Given the description of an element on the screen output the (x, y) to click on. 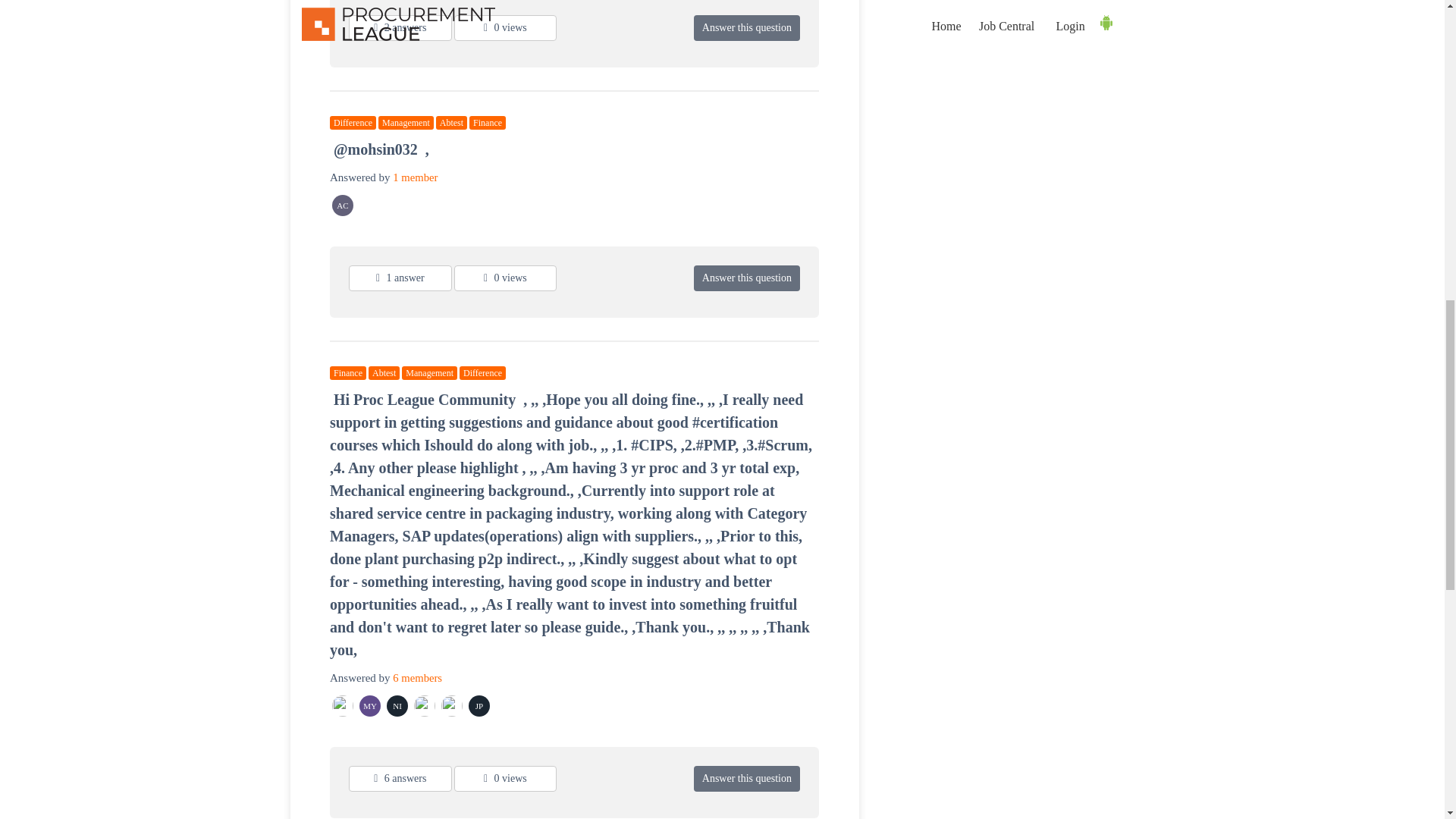
MUKUL YADAV (370, 705)
Nicolas Insixiengmay (398, 705)
James Moran (424, 705)
John Praveen (480, 705)
Amrish Chowdhary (343, 205)
Aneezul Hakeem K (452, 705)
Saheena Ansari (343, 705)
